Given the description of an element on the screen output the (x, y) to click on. 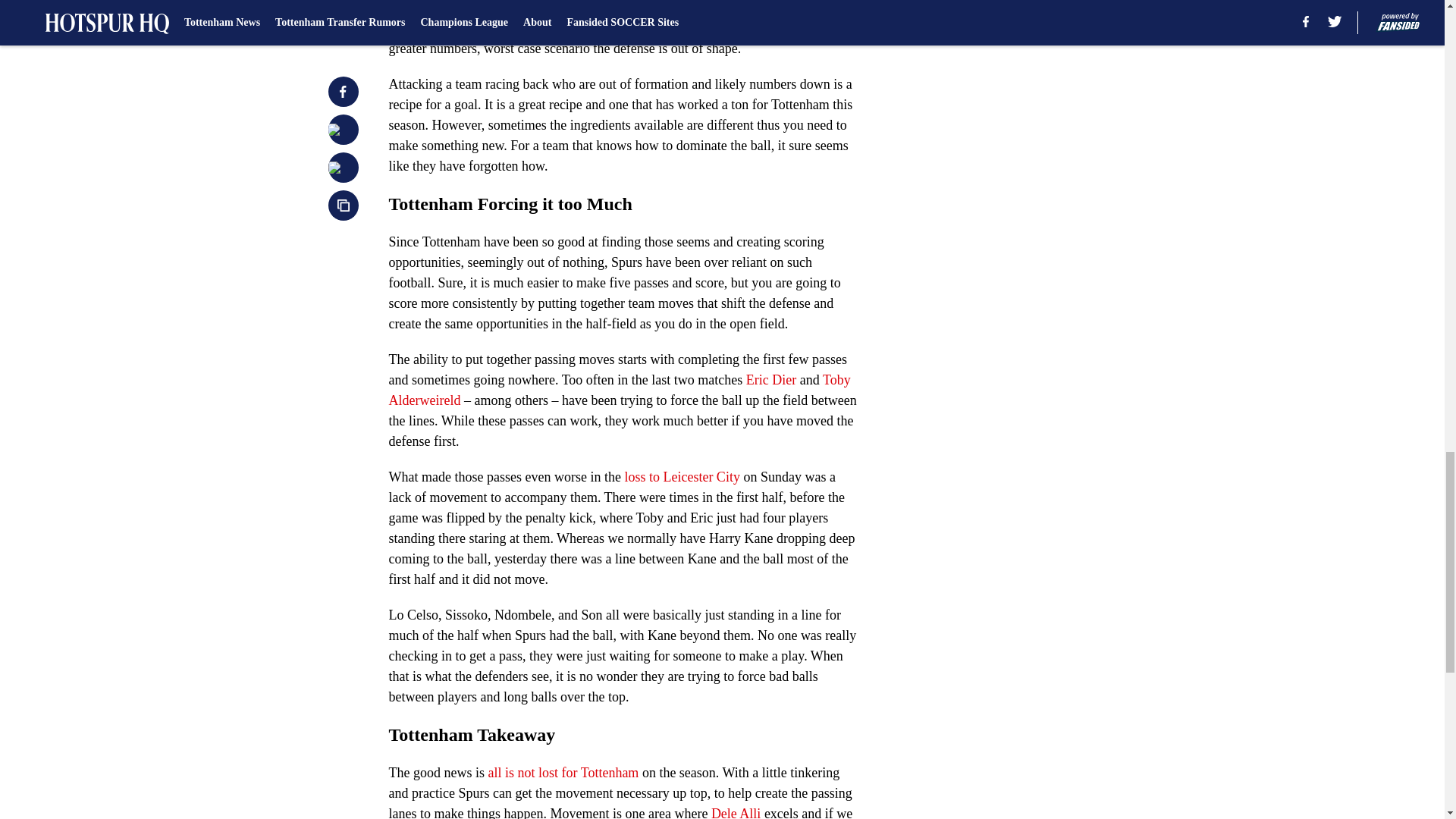
Dele Alli (736, 812)
all is not lost for Tottenham (563, 772)
Eric Dier (770, 379)
Toby Alderweireld (619, 389)
loss to Leicester City (680, 476)
